Given the description of an element on the screen output the (x, y) to click on. 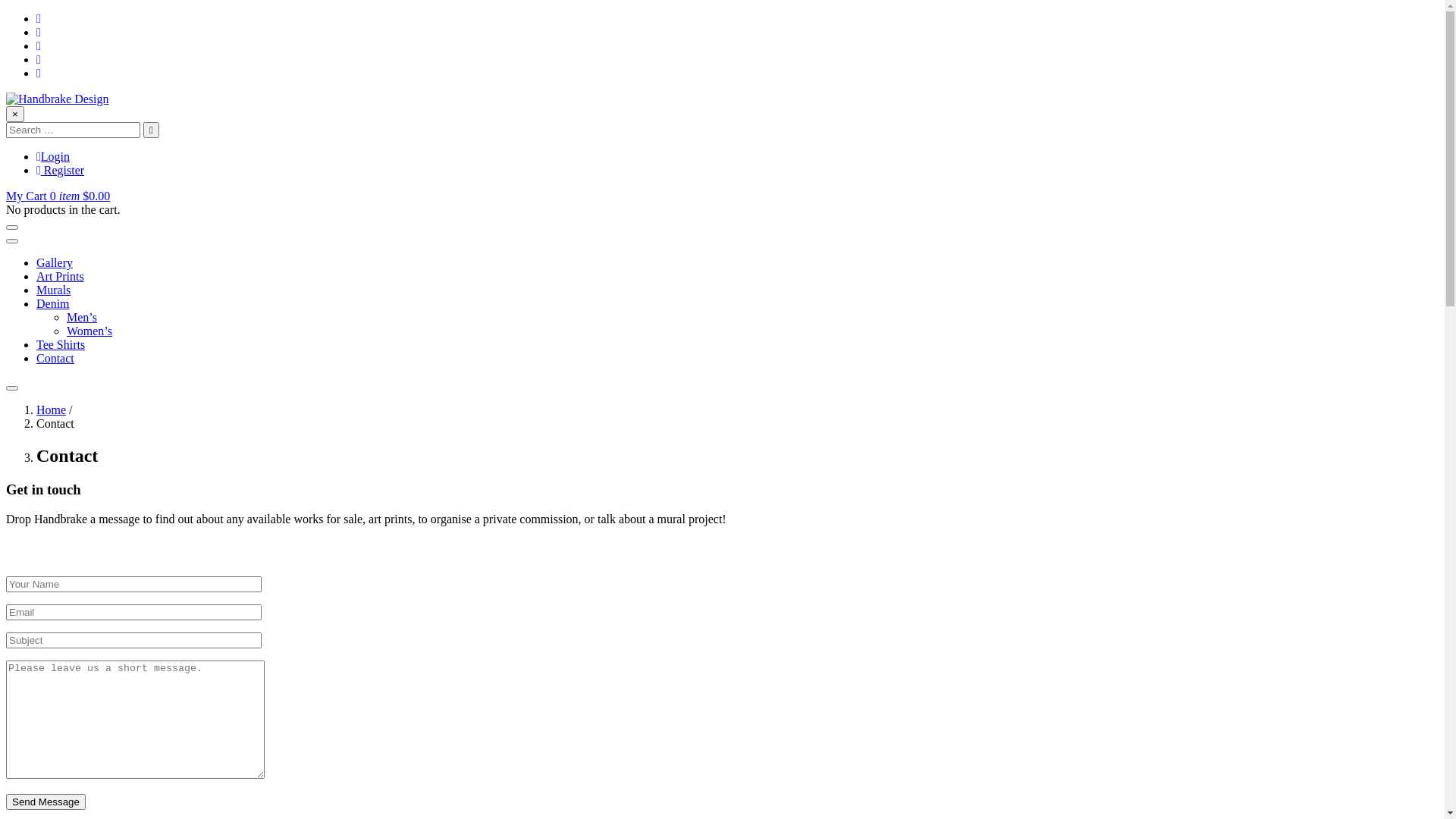
Toggle navigation Element type: text (12, 240)
Tee Shirts Element type: text (60, 344)
Art Prints Element type: text (60, 275)
Contact Element type: text (55, 357)
Register Element type: text (60, 169)
Send Message Element type: text (45, 801)
Murals Element type: text (53, 289)
Denim Element type: text (52, 303)
My Cart 0 item $0.00 Element type: text (57, 195)
Home Element type: text (50, 409)
Login Element type: text (52, 156)
Gallery Element type: text (54, 262)
